Given the description of an element on the screen output the (x, y) to click on. 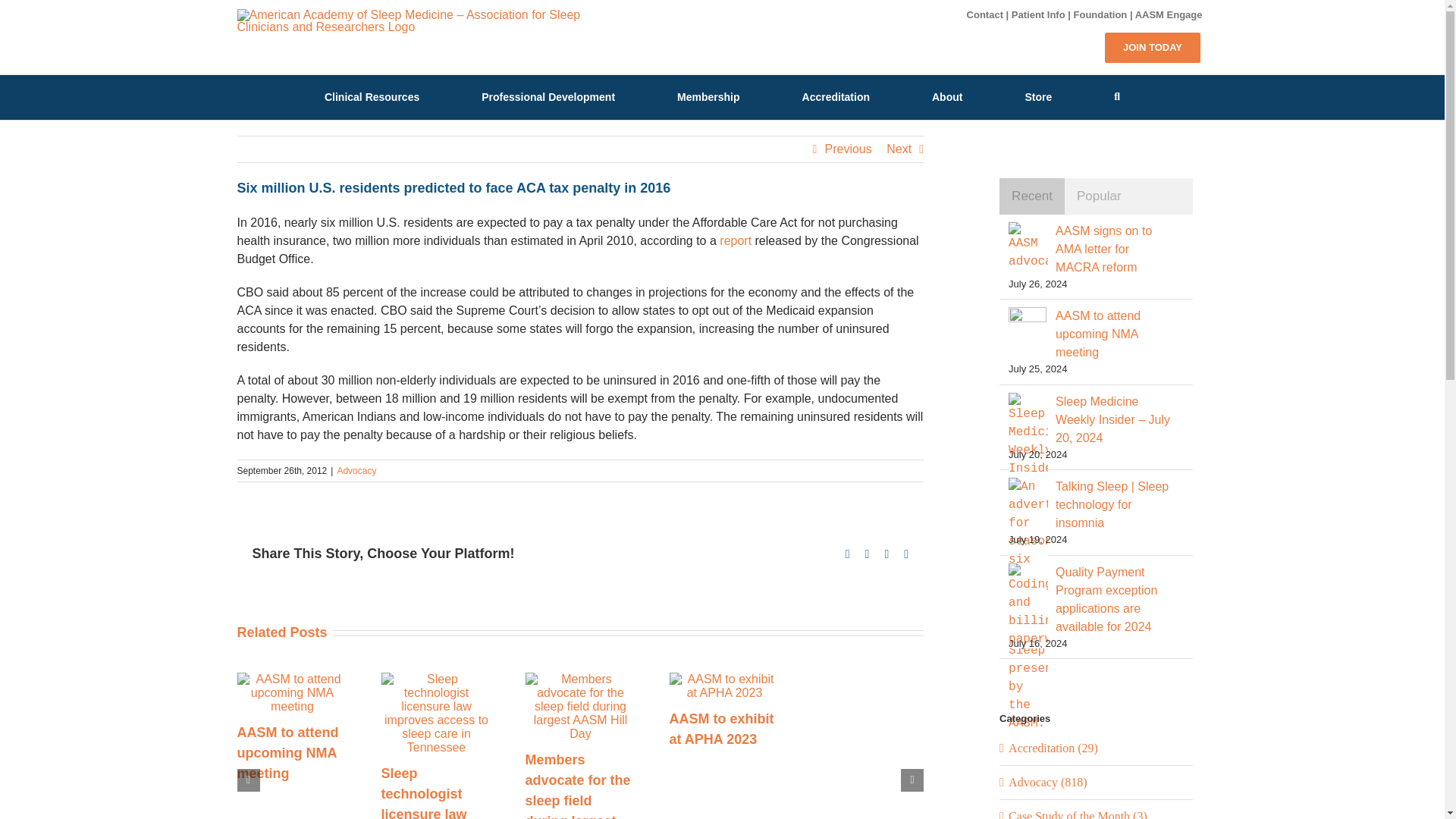
AASM Engage (1168, 14)
AASM to exhibit at APHA 2023 (720, 728)
Search (1117, 96)
Foundation (1100, 14)
Patient Info (1038, 14)
Contact (984, 14)
Clinical Resources (371, 96)
AASM to attend upcoming NMA meeting (286, 752)
JOIN TODAY (1152, 46)
